Given the description of an element on the screen output the (x, y) to click on. 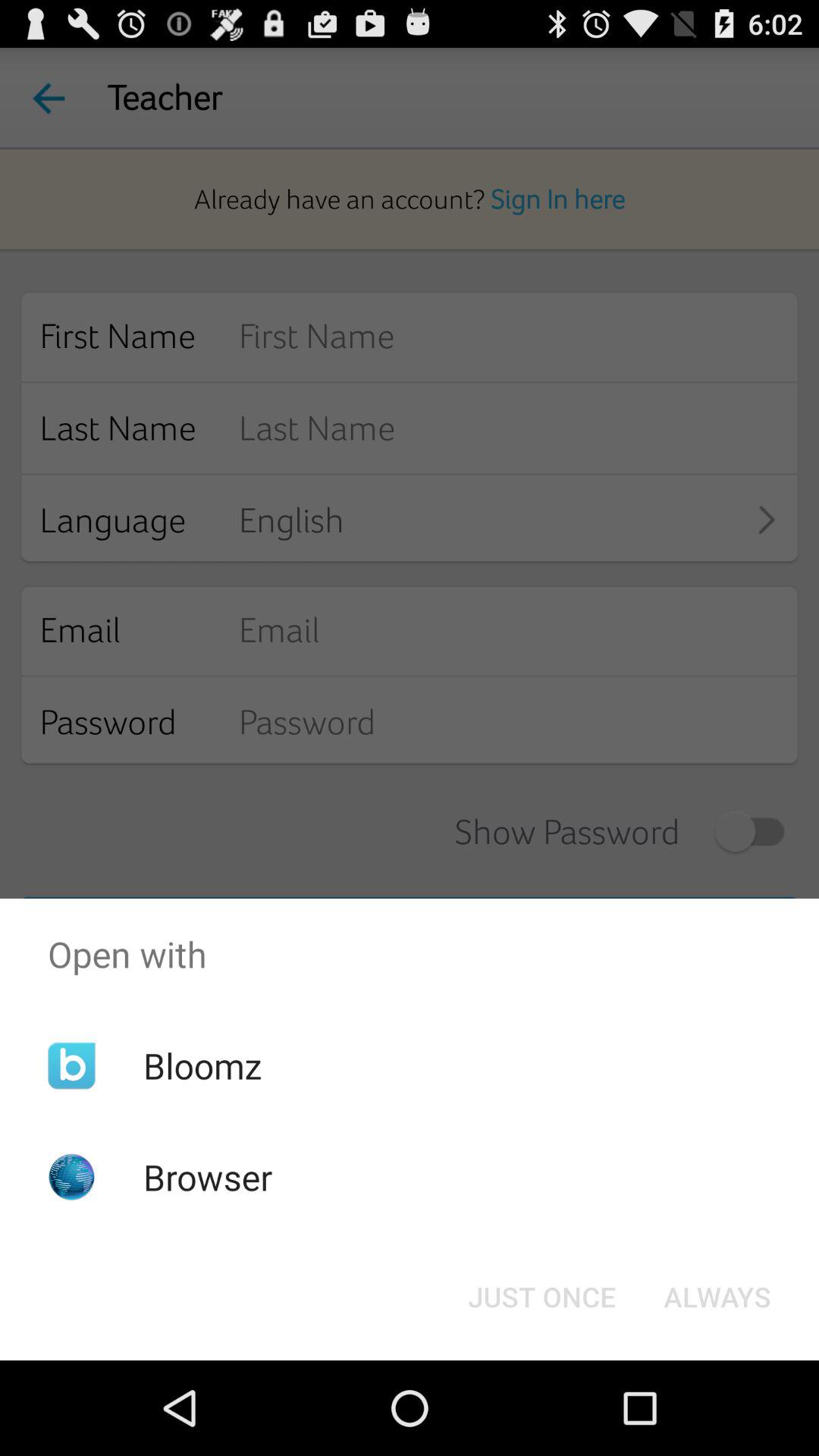
tap button at the bottom right corner (717, 1296)
